Given the description of an element on the screen output the (x, y) to click on. 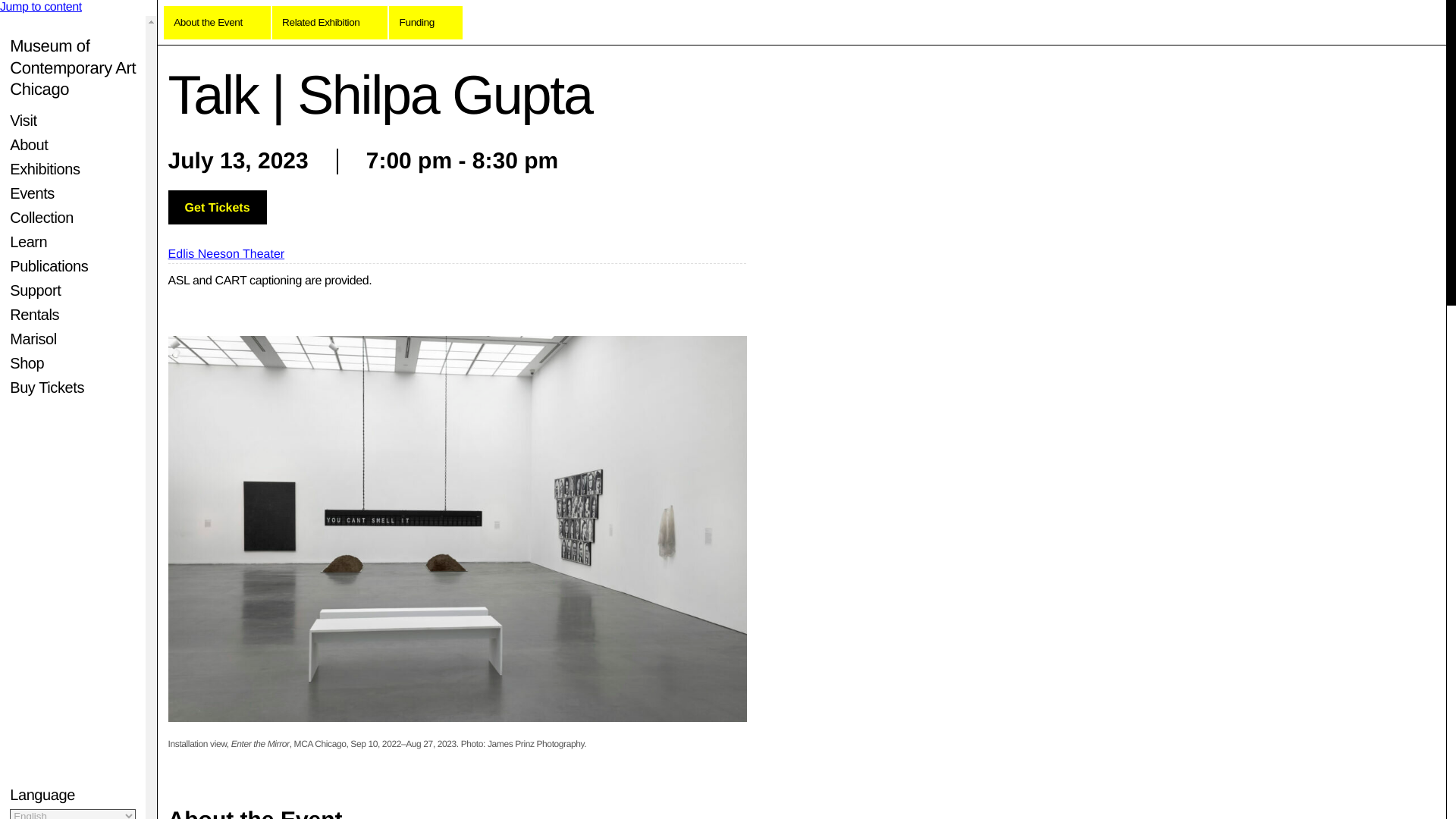
Support (35, 289)
Exhibitions (45, 168)
Funding (424, 22)
Events (32, 193)
Rentals (34, 314)
Buy Tickets (47, 387)
Get Tickets (217, 207)
Shop (26, 362)
About (29, 144)
Related Exhibition (330, 22)
Visit (23, 120)
Marisol (72, 67)
Learn (33, 338)
Edlis Neeson Theater (28, 241)
